Given the description of an element on the screen output the (x, y) to click on. 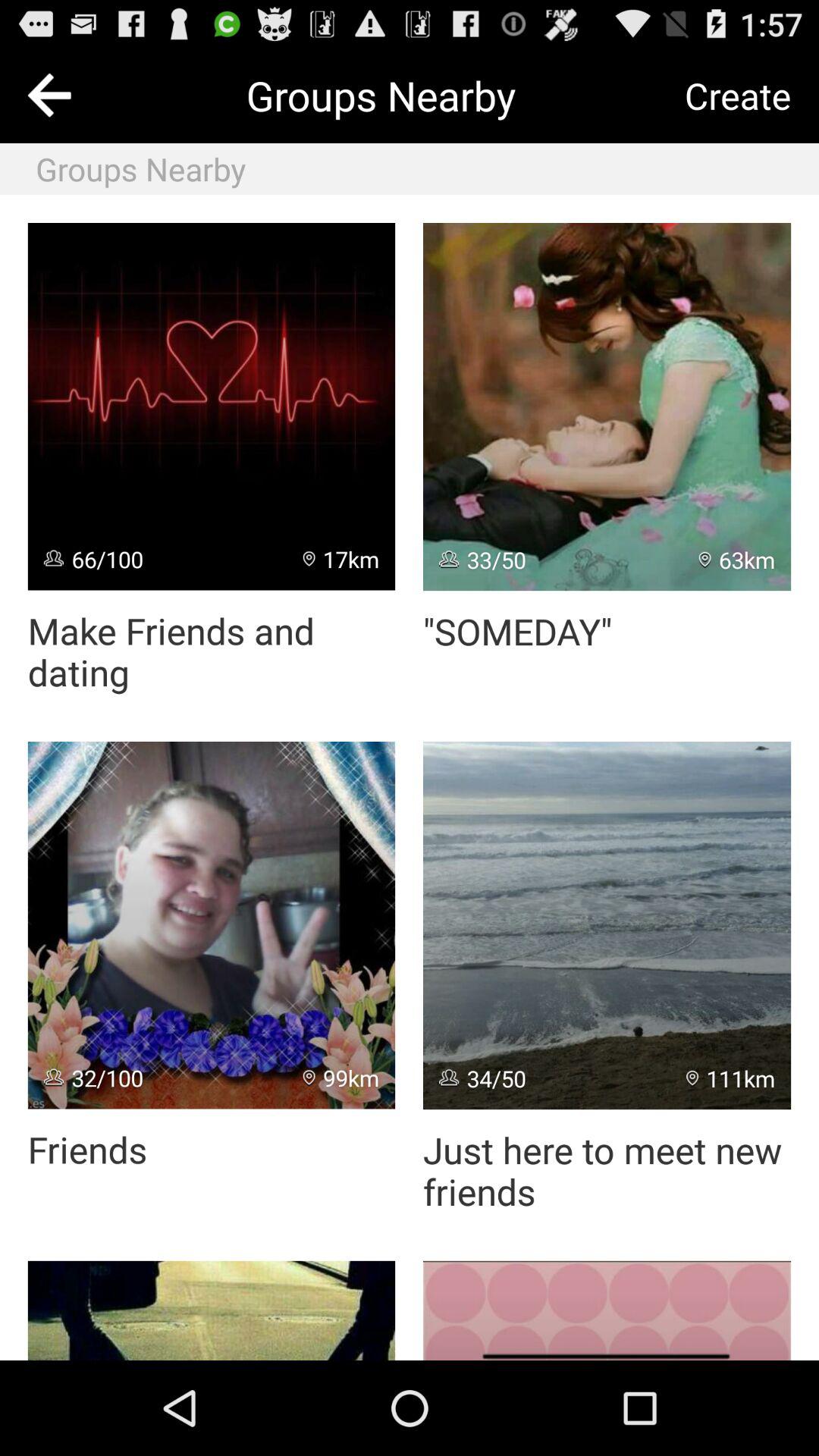
tap the 111km item (730, 1077)
